Given the description of an element on the screen output the (x, y) to click on. 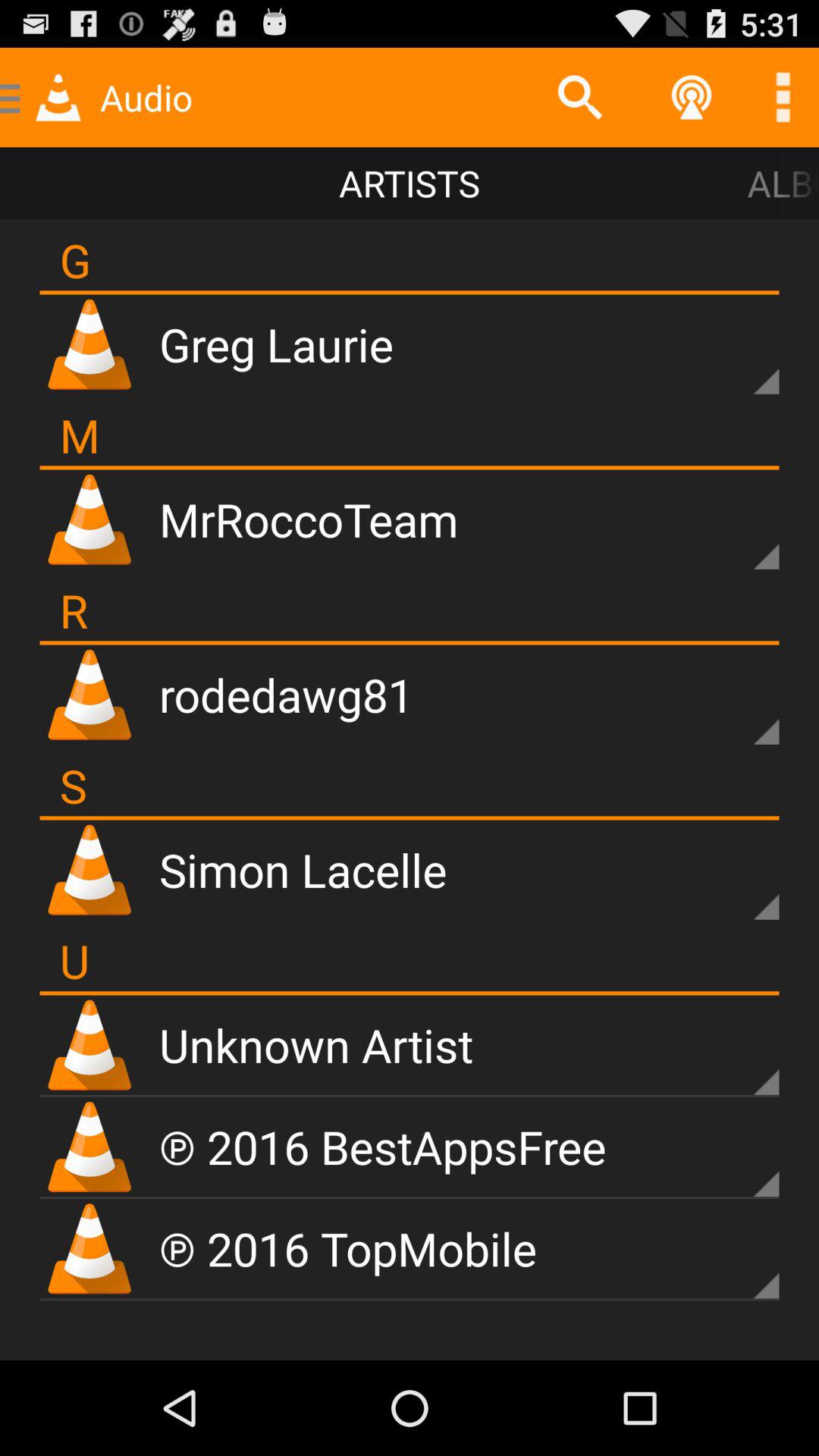
select artist (740, 530)
